Given the description of an element on the screen output the (x, y) to click on. 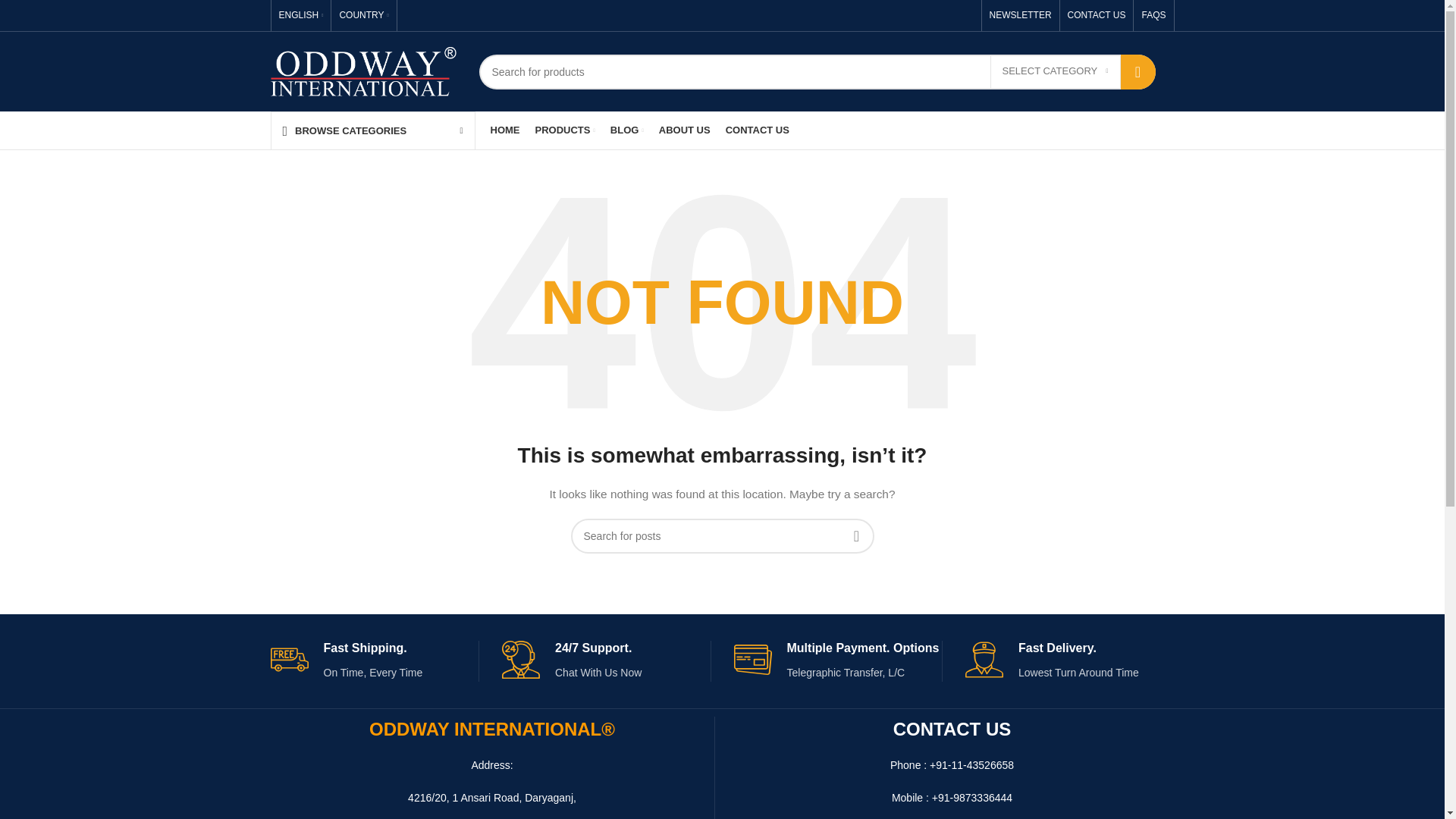
Search for posts (721, 535)
CONTACT US (1096, 15)
Search for products (817, 71)
ENGLISH (301, 15)
generic medicines (565, 130)
NEWSLETTER (1020, 15)
COUNTRY (363, 15)
SELECT CATEGORY (1055, 71)
SELECT CATEGORY (1055, 71)
